Given the description of an element on the screen output the (x, y) to click on. 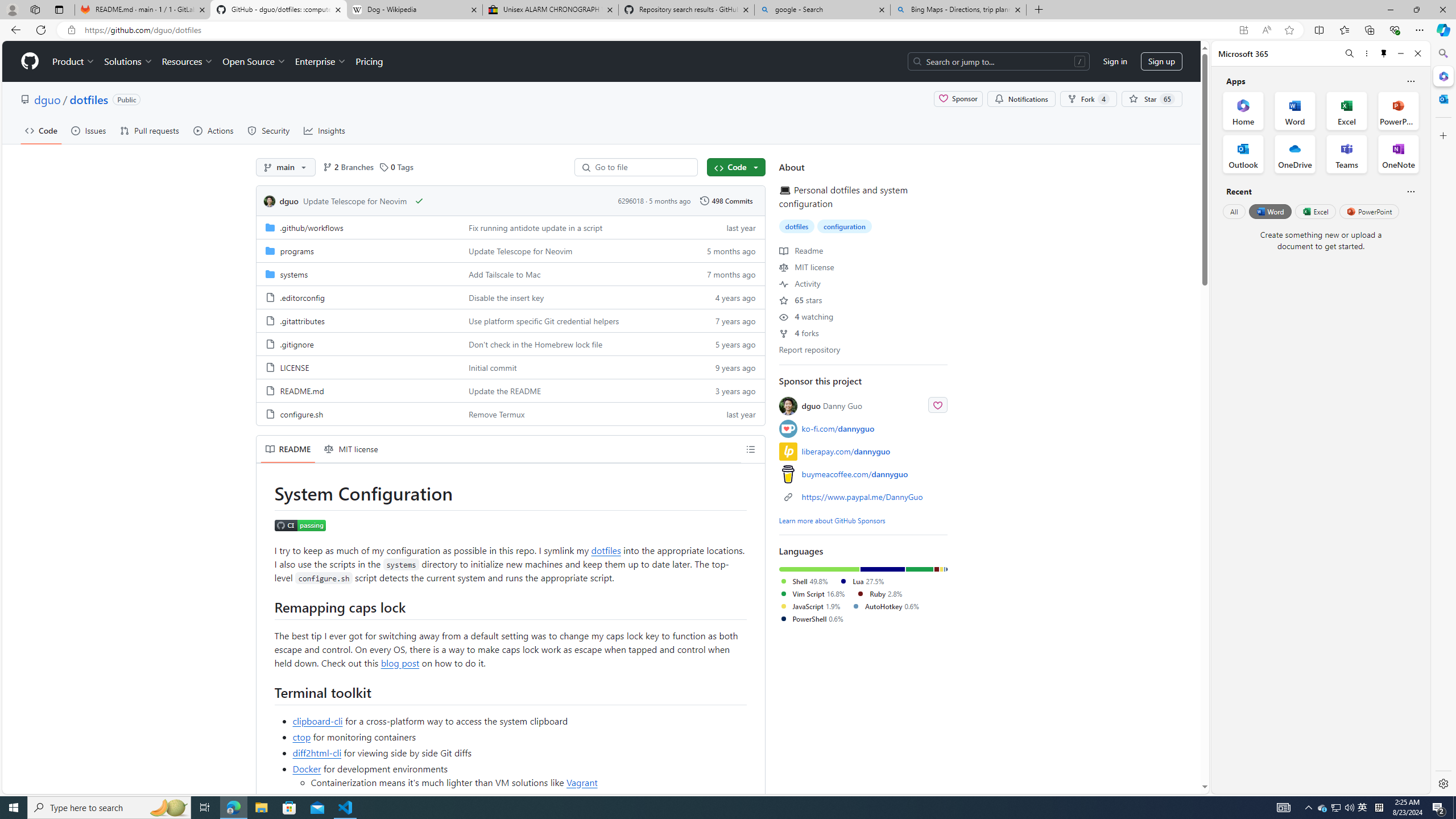
blog post (399, 662)
Solutions (128, 60)
JavaScript 1.9% (809, 605)
buymeacoffee.com/dannyguo (854, 473)
README (287, 449)
PowerPoint Office App (1398, 110)
Code (735, 167)
Class: Box-sc-g0xbh4-0 jEbBOT (510, 200)
4 watching (806, 315)
dotfiles (796, 226)
Update Telescope for Neovim (573, 250)
dguo (270, 200)
JavaScript1.9% (814, 606)
